Given the description of an element on the screen output the (x, y) to click on. 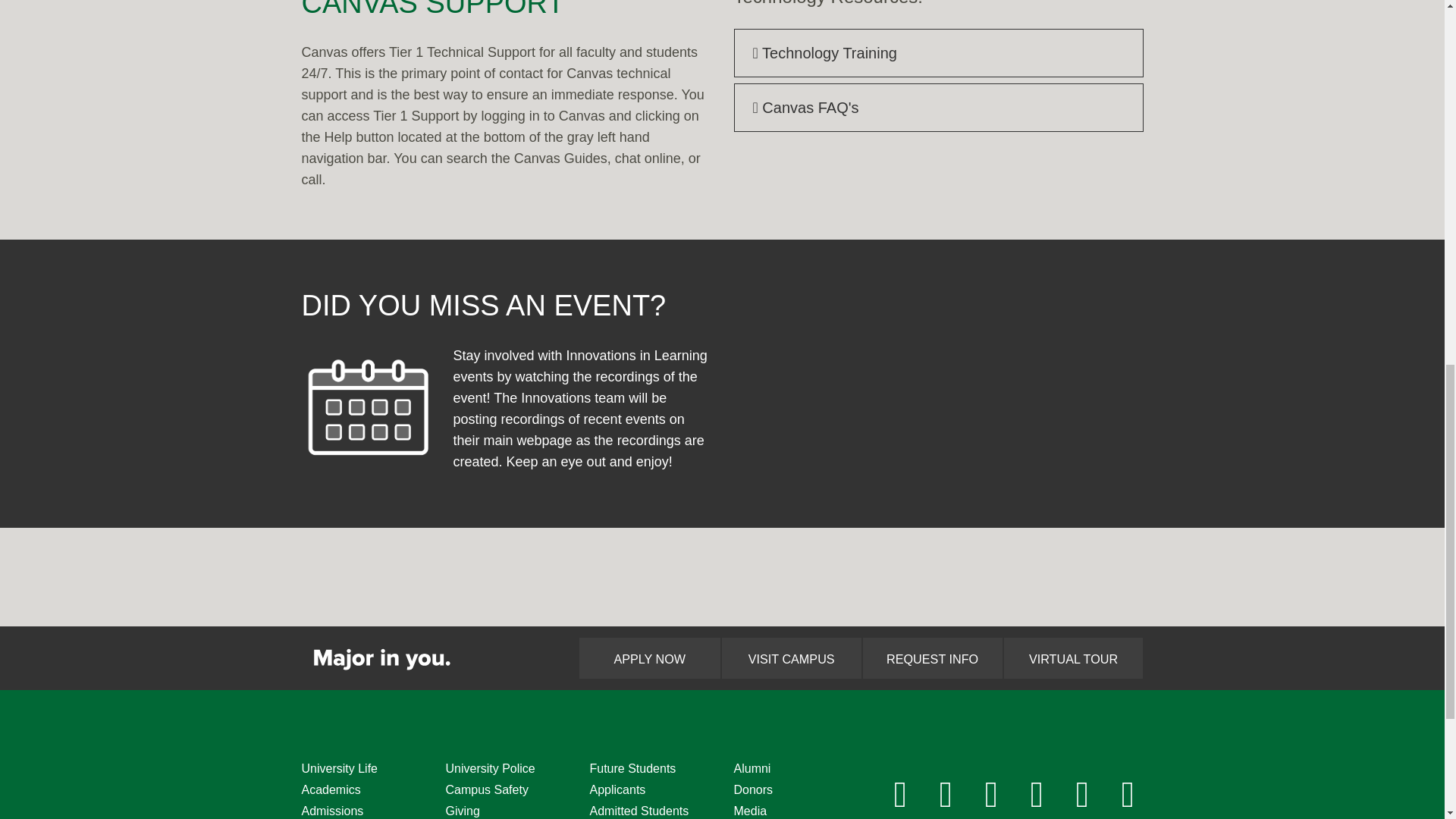
Email Admissions (1128, 793)
Instagram (946, 793)
LinkedIn (1036, 793)
TikTok (1082, 793)
Facebook (900, 793)
X (991, 793)
